Given the description of an element on the screen output the (x, y) to click on. 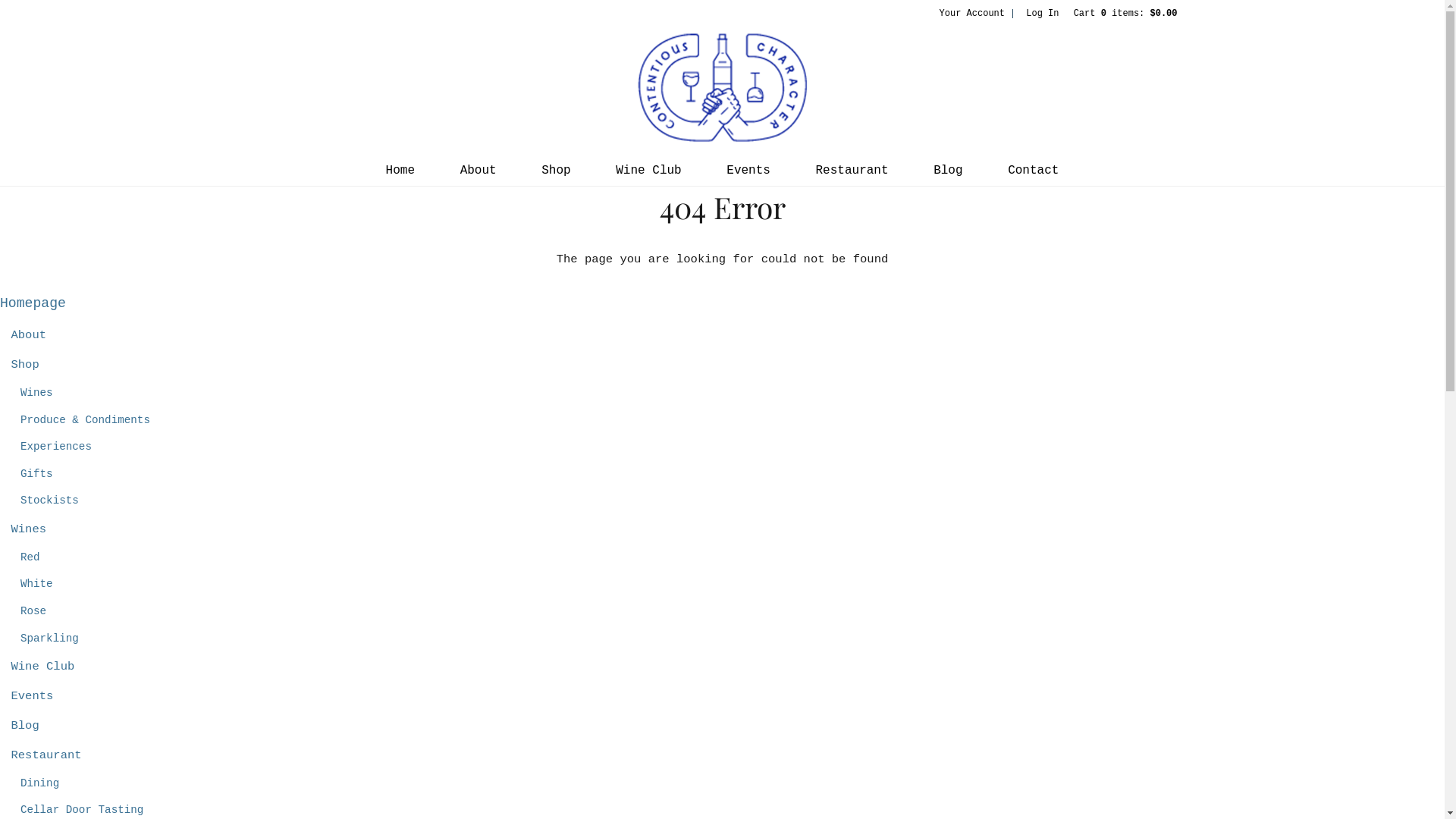
Cart 0 items: $0.00 Element type: text (1125, 13)
Homepage Element type: text (32, 302)
Log In Element type: text (1042, 13)
About Element type: text (478, 170)
Wine Club Element type: text (42, 666)
Contact Element type: text (1032, 170)
Red Element type: text (30, 557)
Shop Element type: text (555, 170)
Cellar Door Tasting Element type: text (81, 809)
Sparkling Element type: text (49, 638)
Restaurant Element type: text (45, 755)
Wines Element type: text (28, 529)
Rose Element type: text (33, 611)
Dining Element type: text (39, 783)
Produce & Condiments Element type: text (85, 420)
Wines Element type: text (36, 392)
Your Account Element type: text (971, 13)
About Element type: text (28, 335)
Shop Element type: text (24, 364)
Wine Club Element type: text (647, 170)
Restaurant Element type: text (851, 170)
Home Element type: text (399, 170)
Events Element type: text (748, 170)
Events Element type: text (31, 695)
Gifts Element type: text (36, 473)
Blog Element type: text (947, 170)
Blog Element type: text (24, 725)
Experiences Element type: text (55, 446)
White Element type: text (36, 583)
Stockists Element type: text (49, 500)
Contentious Character Home Element type: text (721, 87)
